Given the description of an element on the screen output the (x, y) to click on. 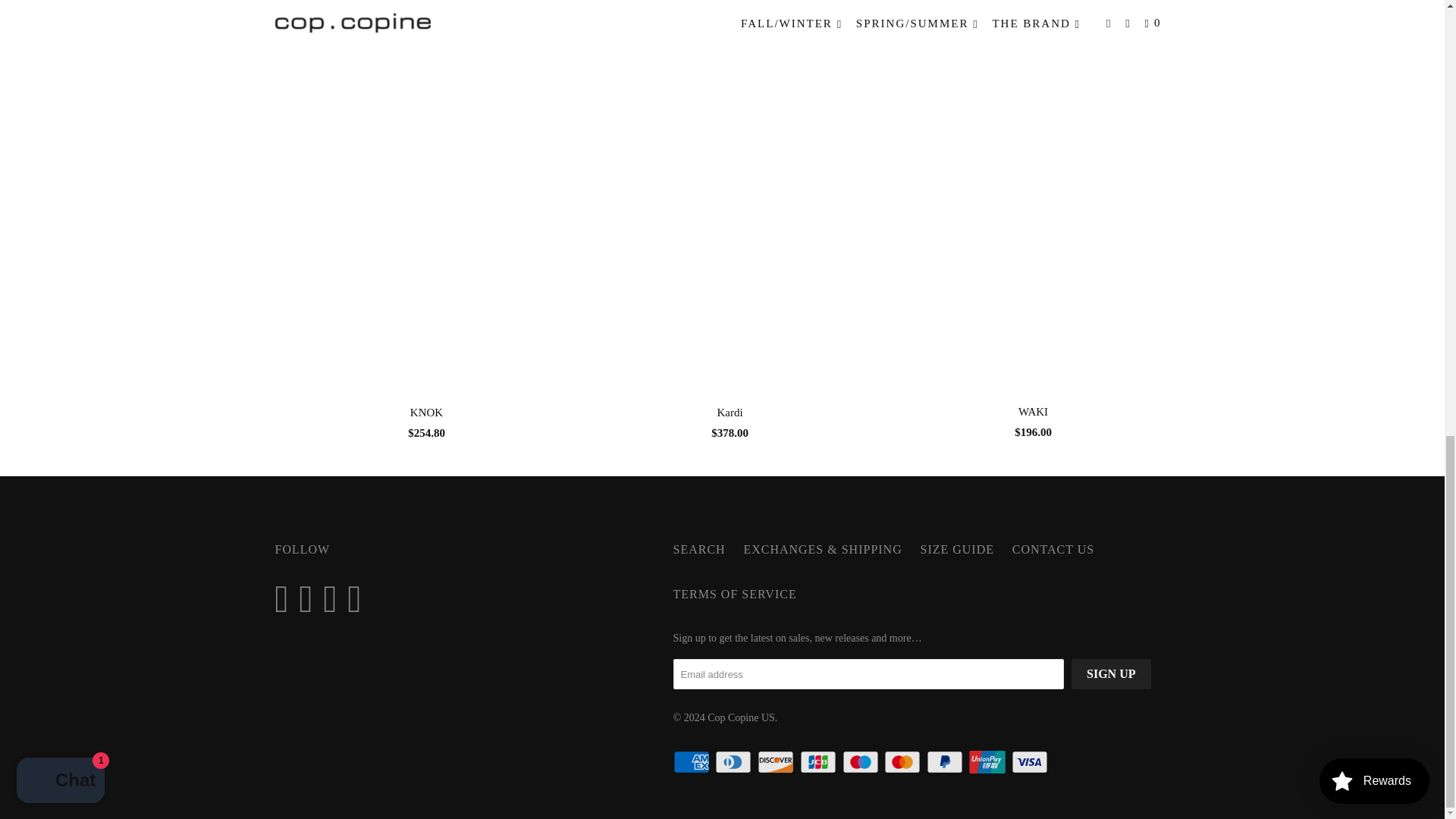
American Express (692, 762)
Discover (776, 762)
Visa (1031, 762)
Mastercard (903, 762)
Maestro (860, 762)
PayPal (946, 762)
Union Pay (989, 762)
JCB (819, 762)
Diners Club (734, 762)
Sign Up (1110, 674)
